Given the description of an element on the screen output the (x, y) to click on. 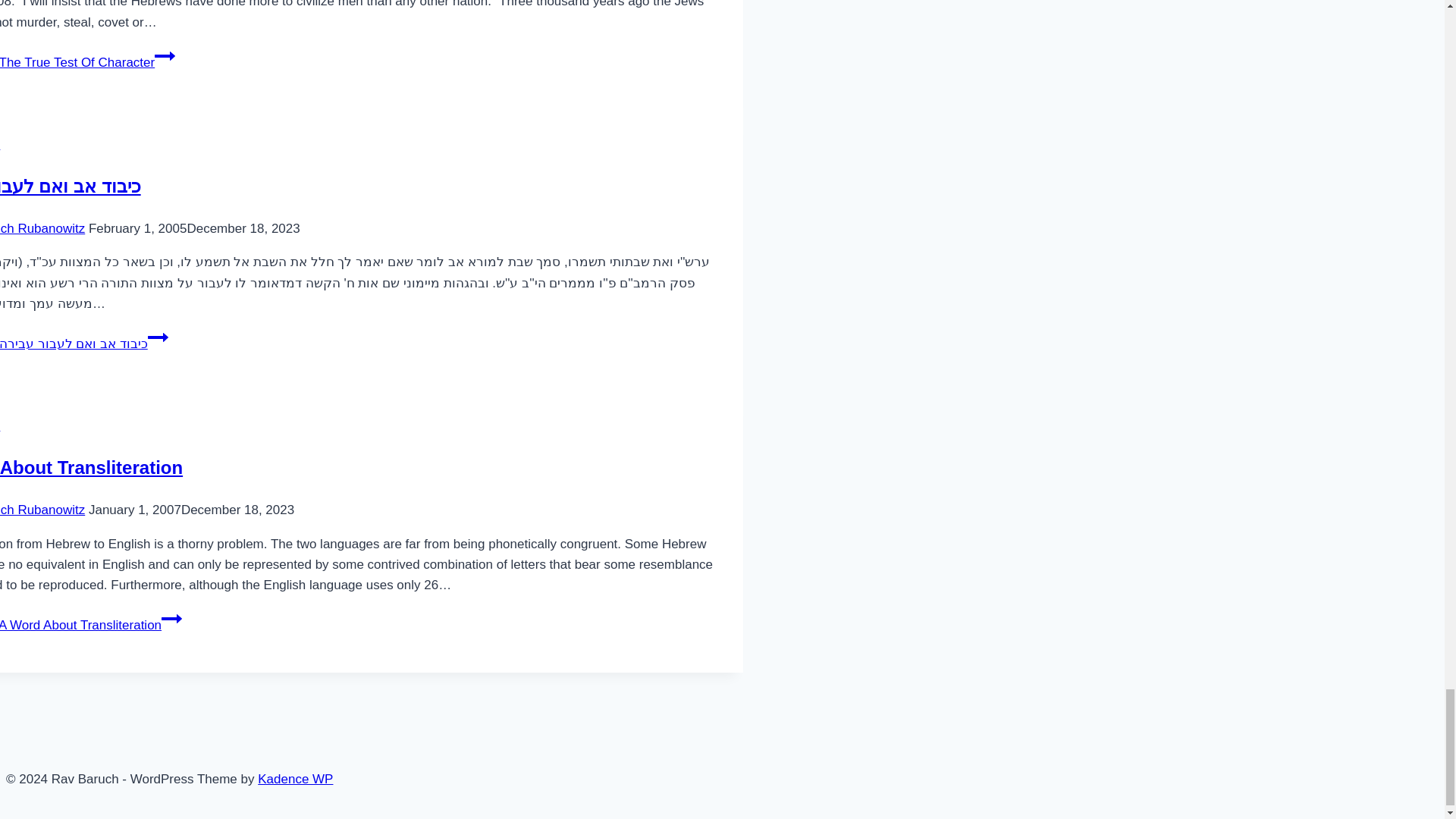
Read More The True Test Of CharacterContinue (87, 62)
Continue (158, 337)
Rav Baruch Rubanowitz (42, 228)
Continue (171, 618)
Continue (164, 55)
